Given the description of an element on the screen output the (x, y) to click on. 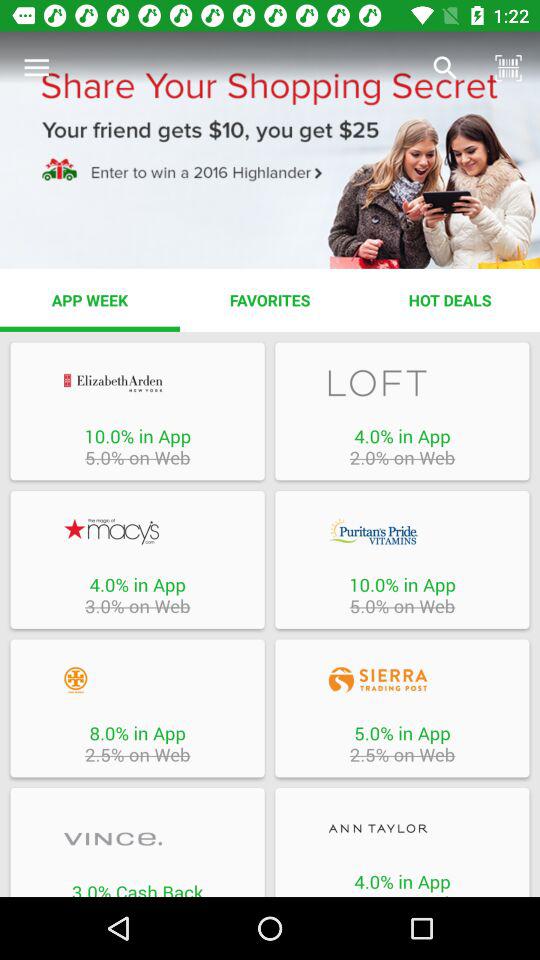
view vendor collection (402, 382)
